Given the description of an element on the screen output the (x, y) to click on. 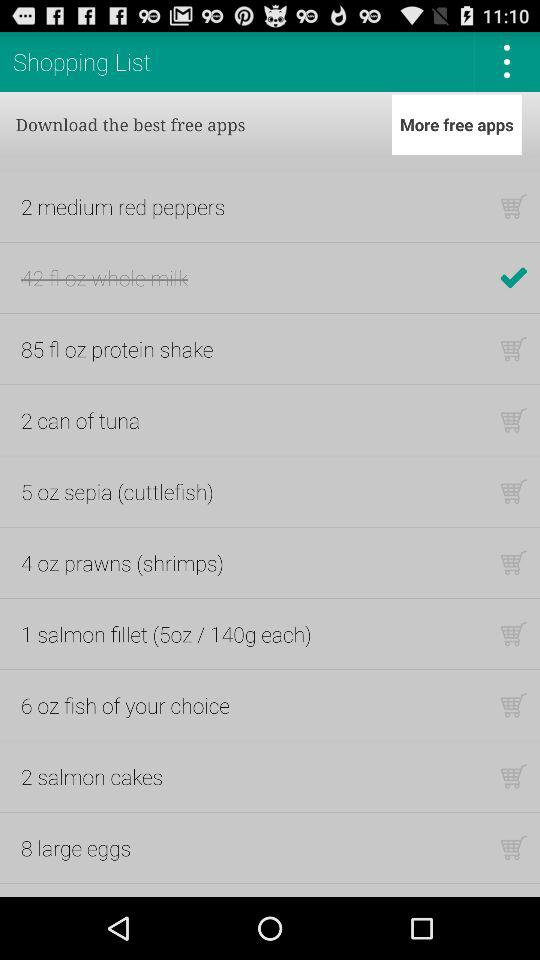
flip until the 4 oz prawns item (122, 562)
